Given the description of an element on the screen output the (x, y) to click on. 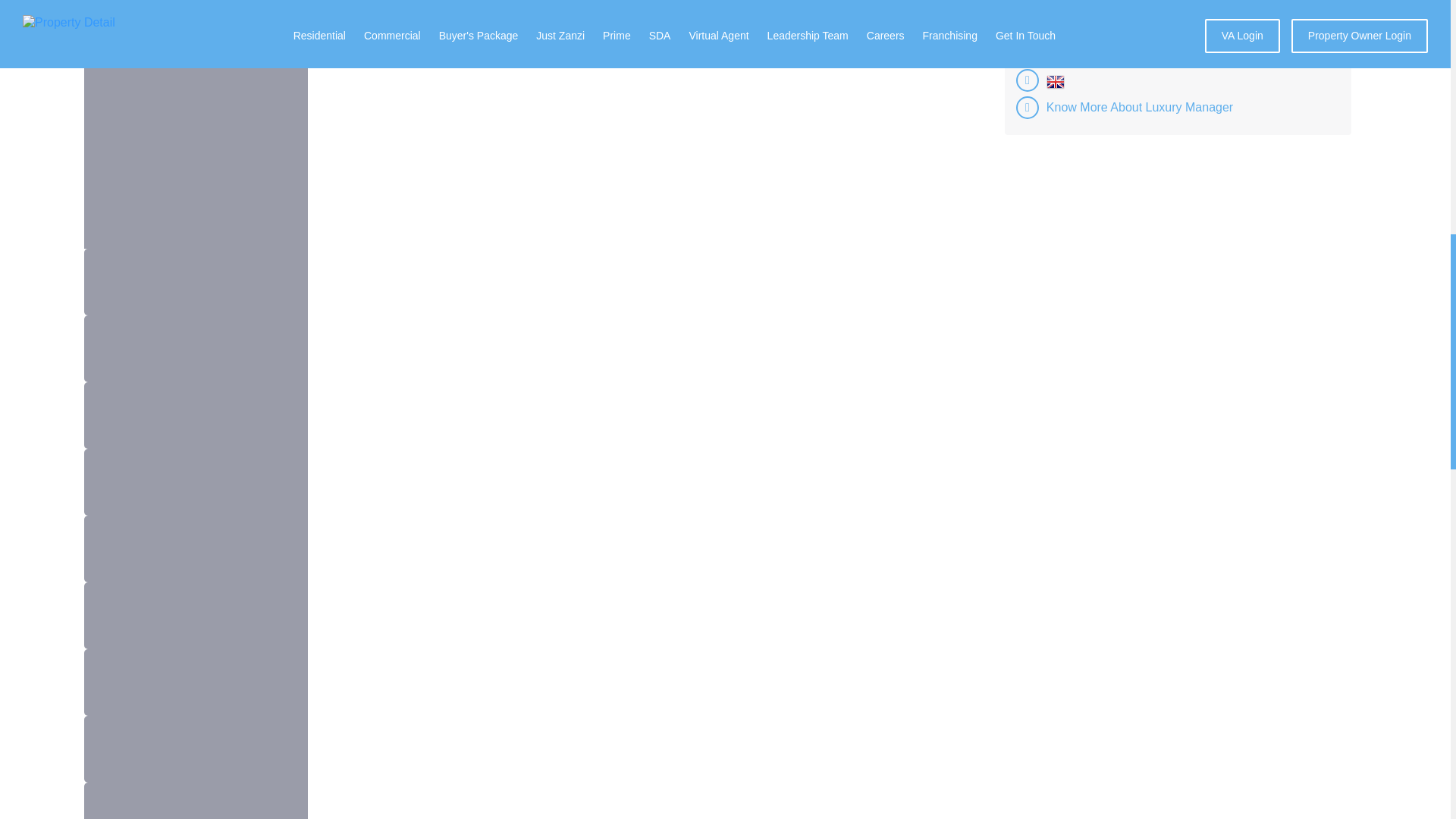
Call Luxury Manager (1102, 4)
Email Luxury Manager (1106, 25)
English (1055, 81)
